Given the description of an element on the screen output the (x, y) to click on. 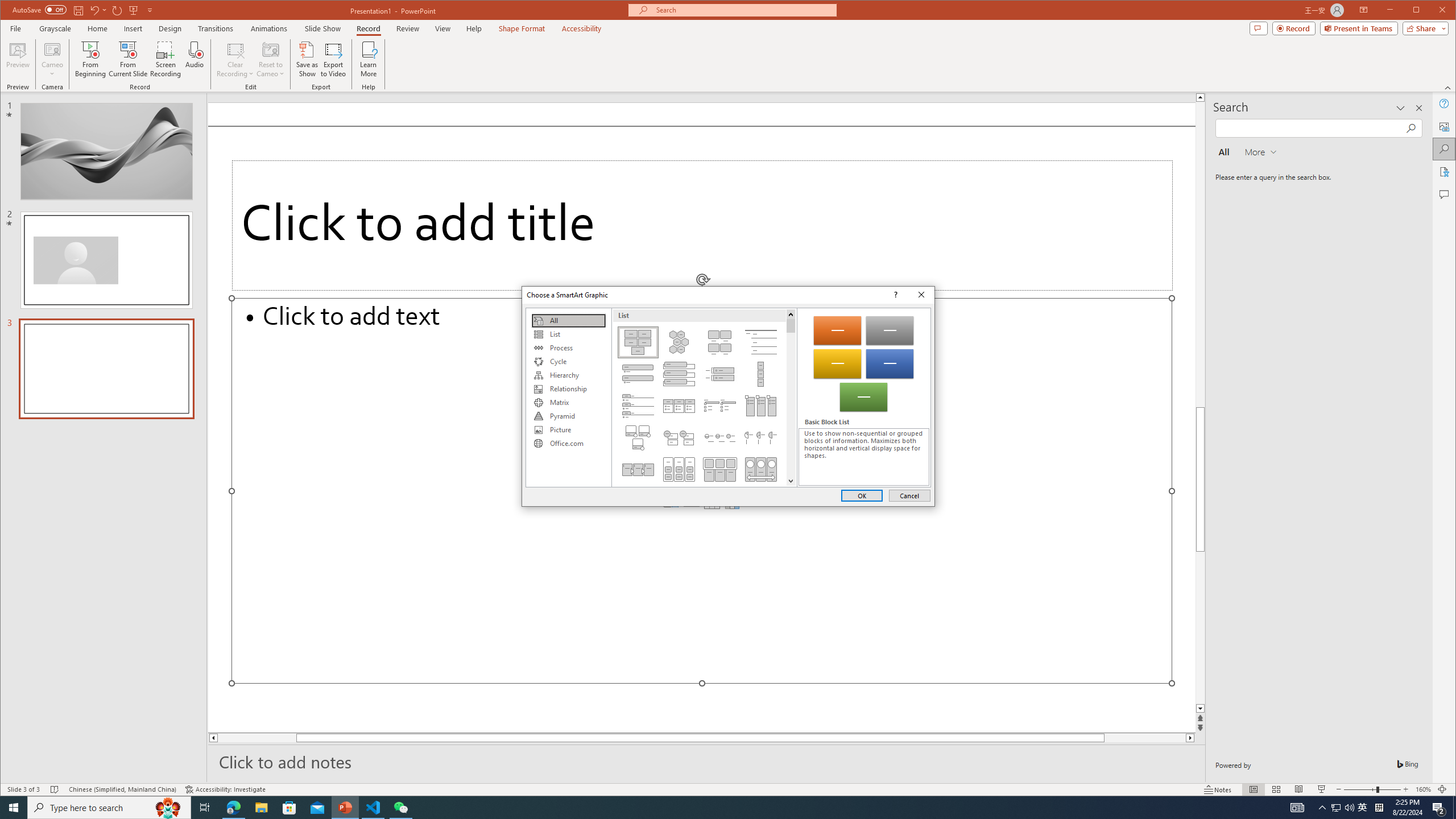
Vertical Bracket List (719, 373)
Export to Video (333, 59)
From Current Slide... (127, 59)
Clear Recording (234, 59)
Picture Caption List (719, 342)
OK (861, 495)
Context help (894, 294)
